Given the description of an element on the screen output the (x, y) to click on. 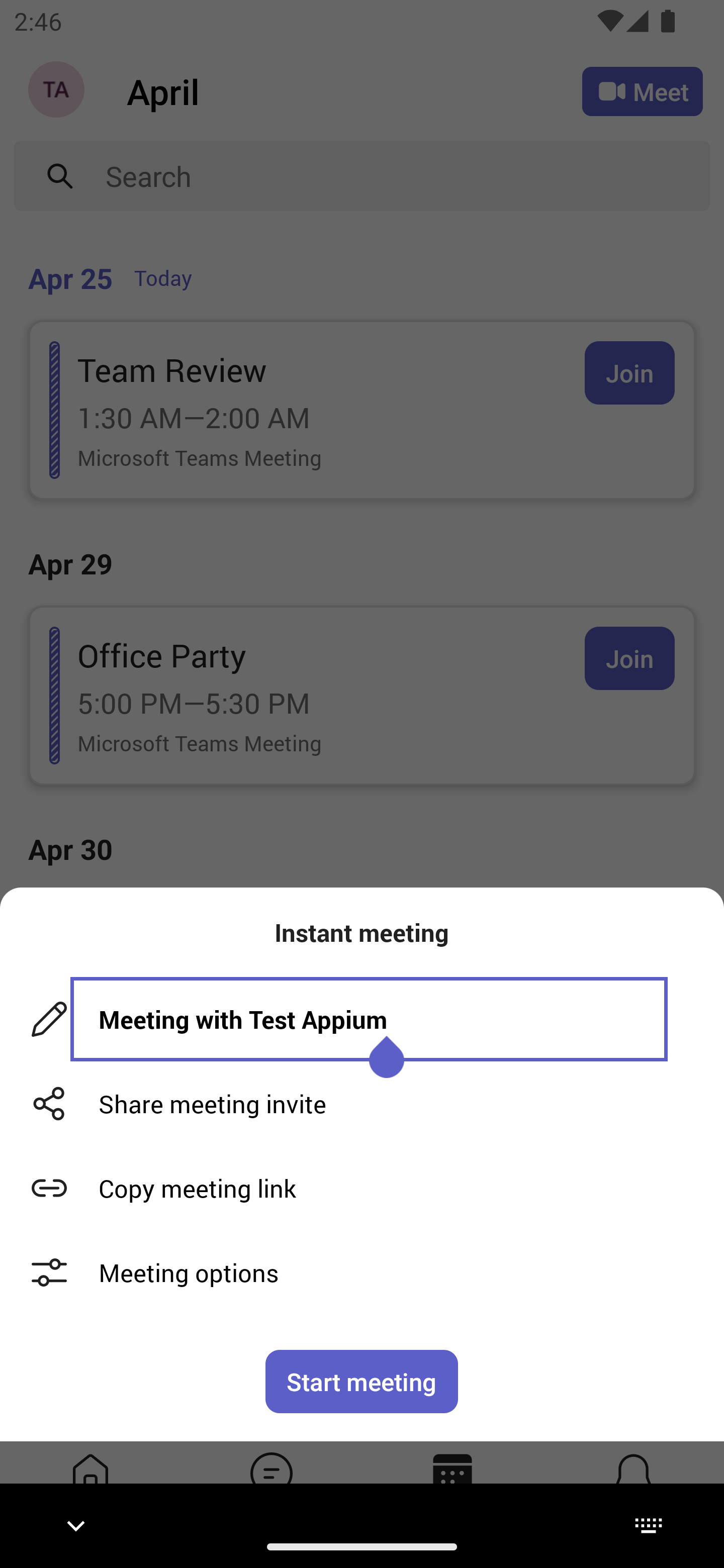
Meeting with Test Appium (368, 1018)
Share meeting invite (362, 1103)
Copy meeting link (362, 1188)
Meeting options (362, 1271)
Start meeting (361, 1381)
